Given the description of an element on the screen output the (x, y) to click on. 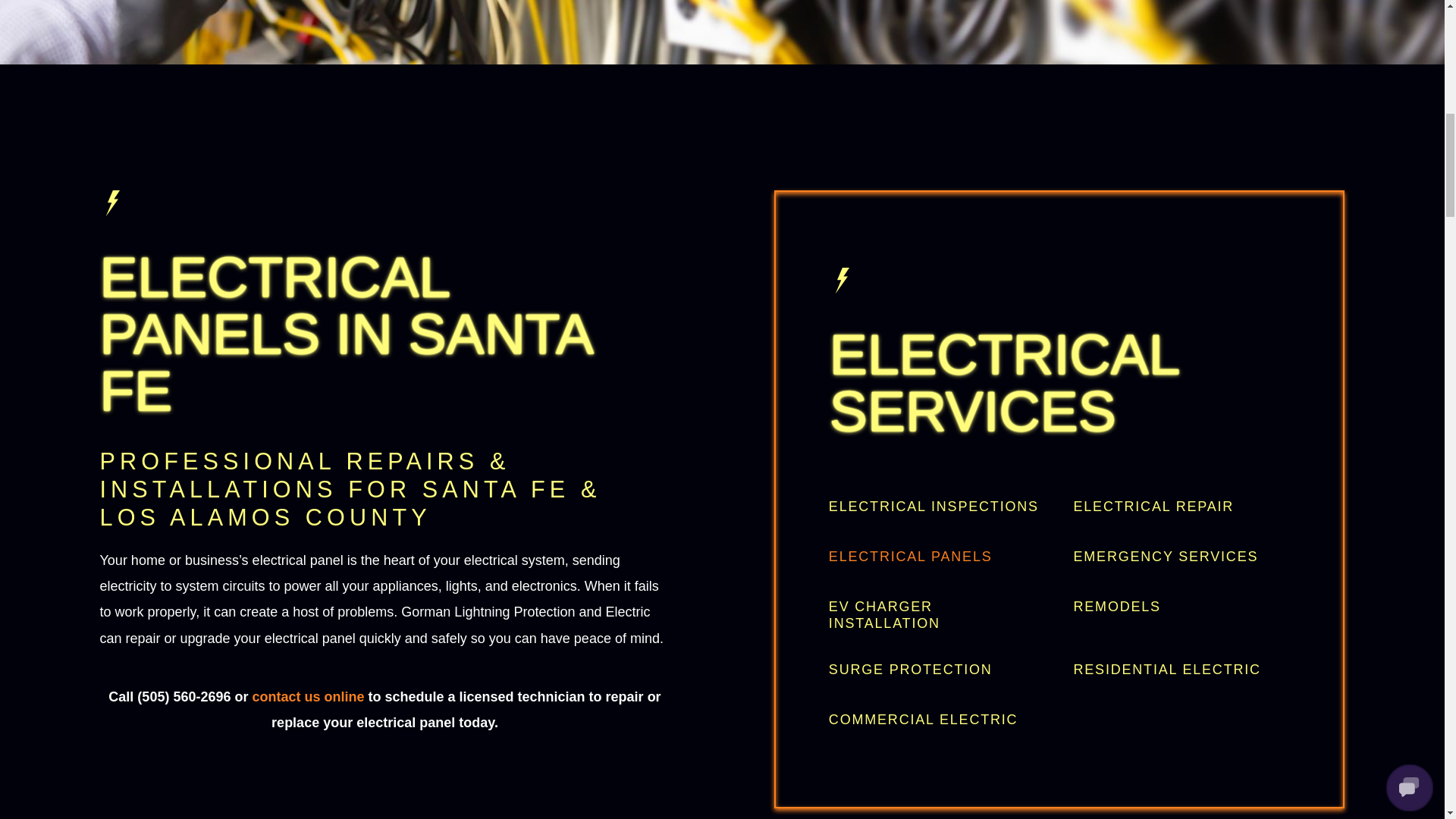
EV CHARGER INSTALLATION (937, 614)
ELECTRICAL INSPECTIONS (937, 506)
EMERGENCY SERVICES (1181, 556)
ELECTRICAL SERVICES (1059, 382)
ELECTRICAL REPAIR (1181, 506)
ELECTRICAL PANELS (937, 556)
contact us online (307, 696)
